Given the description of an element on the screen output the (x, y) to click on. 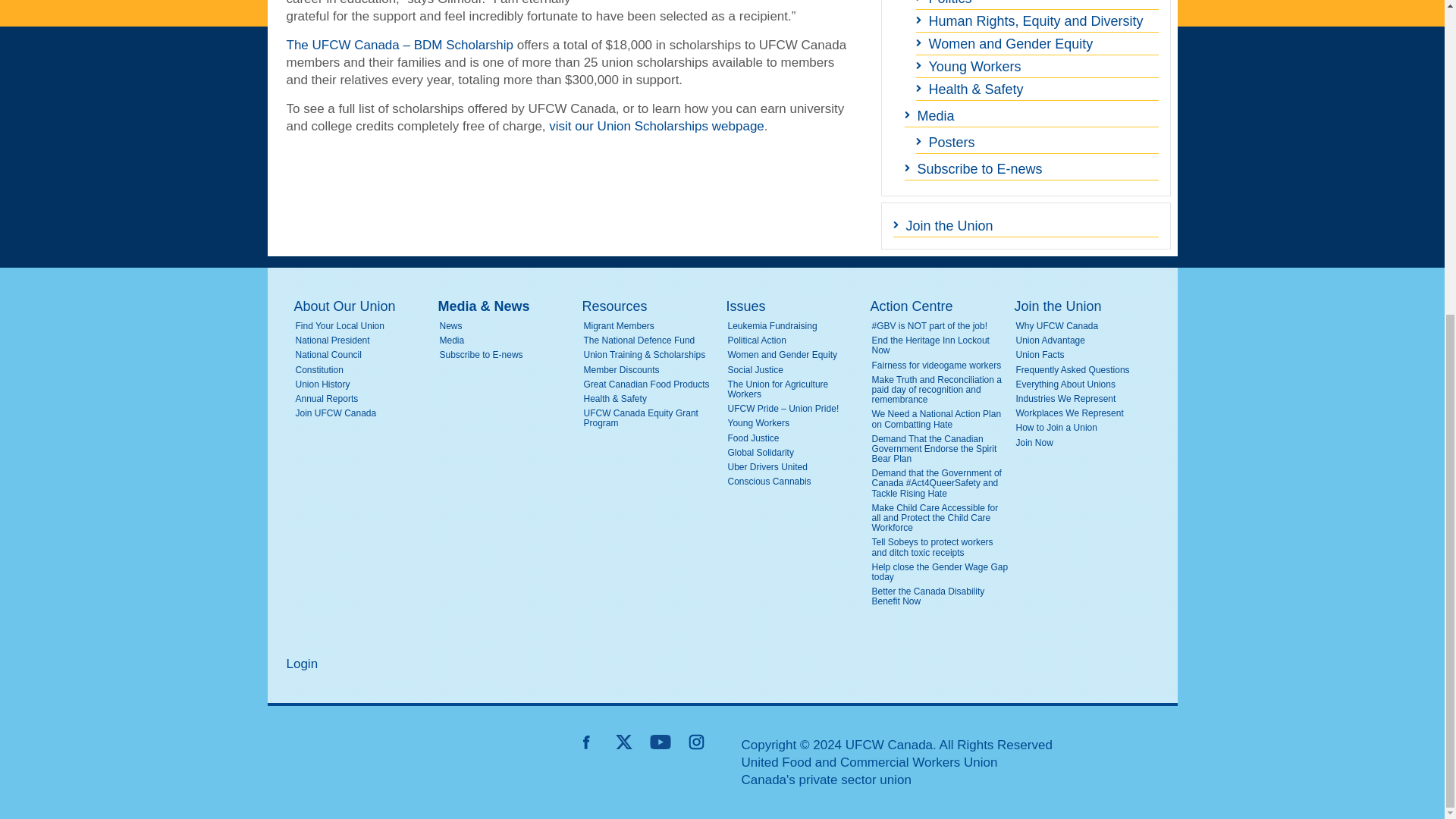
Women and Gender Equity (1036, 43)
Constitution (363, 370)
Join the Union (1025, 225)
Human Rights, Equity and Diversity (1036, 20)
National President (363, 340)
Find Your Local Union (363, 326)
Subscribe to E-news (1030, 169)
National Council (363, 355)
  X (623, 742)
visit our Union Scholarships webpage (656, 125)
